Given the description of an element on the screen output the (x, y) to click on. 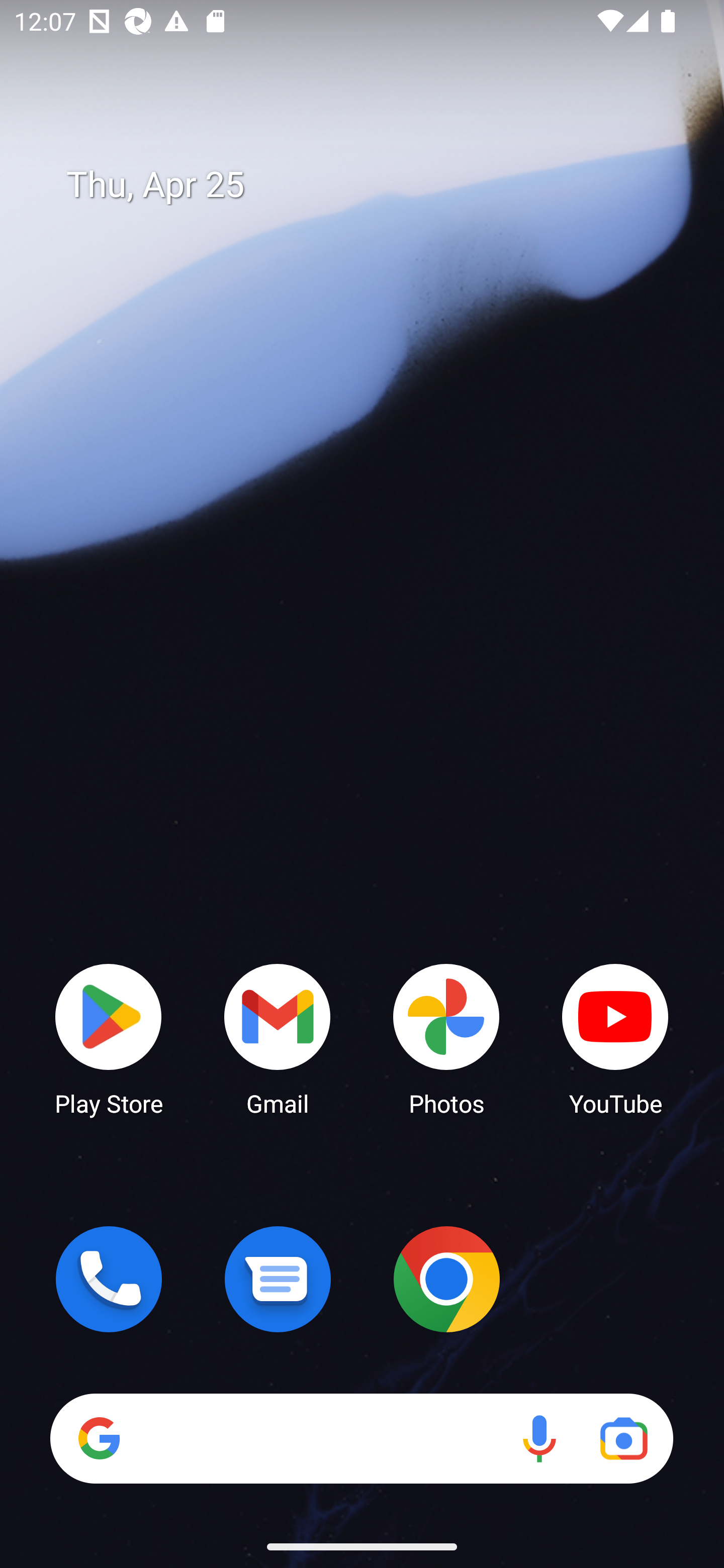
Thu, Apr 25 (375, 184)
Play Store (108, 1038)
Gmail (277, 1038)
Photos (445, 1038)
YouTube (615, 1038)
Phone (108, 1279)
Messages (277, 1279)
Chrome (446, 1279)
Search Voice search Google Lens (361, 1438)
Voice search (539, 1438)
Google Lens (623, 1438)
